Given the description of an element on the screen output the (x, y) to click on. 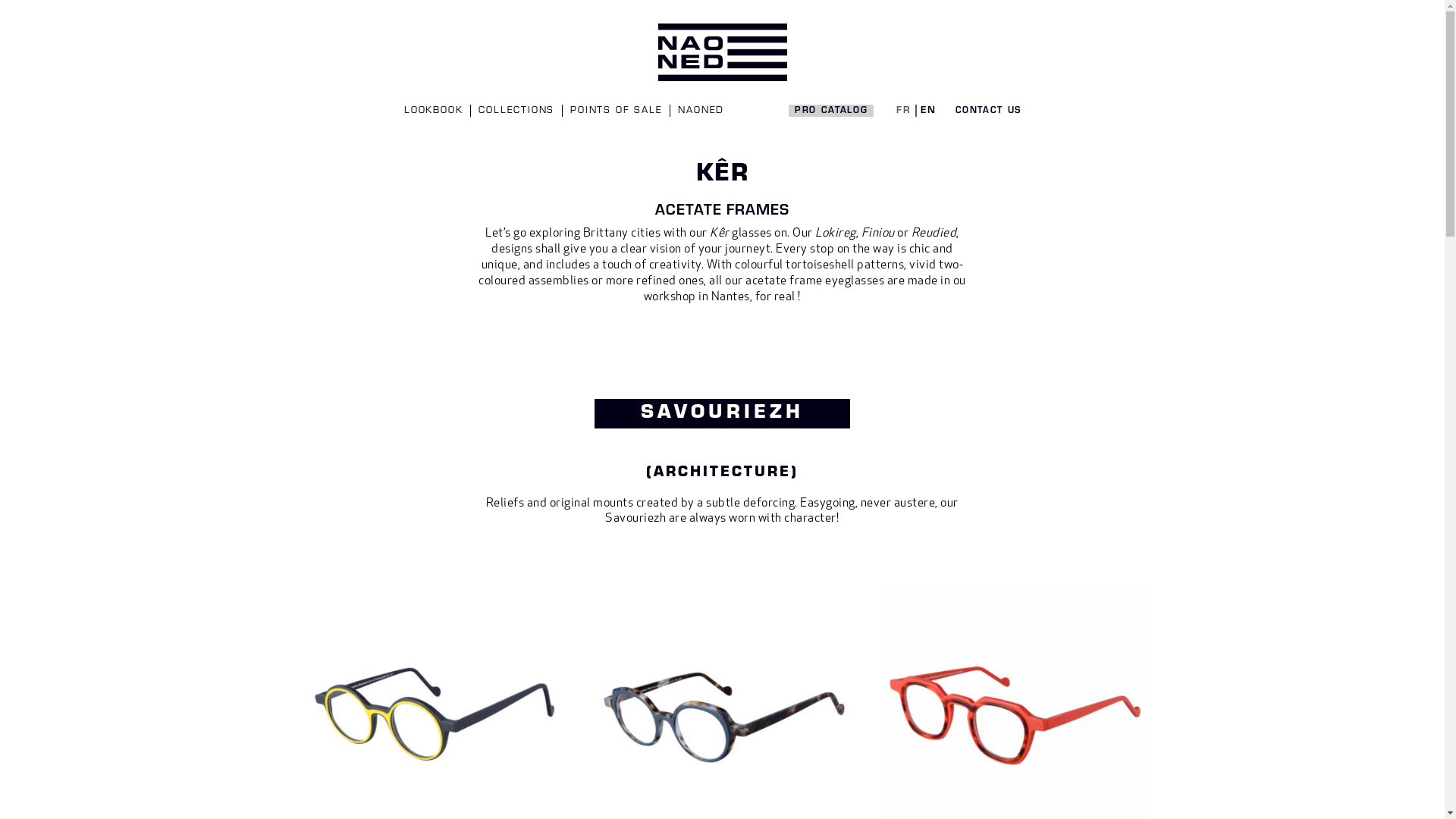
KLISON_C068 Element type: hover (436, 594)
COLLECTIONS Element type: text (516, 110)
CONTACT US Element type: text (988, 110)
NAONED Element type: text (700, 110)
FR Element type: text (903, 110)
LOOKBOOK Element type: text (433, 110)
EN Element type: text (928, 110)
SULIEG_C073 Element type: hover (726, 594)
PRO CATALOG Element type: text (830, 110)
POINTS OF SALE Element type: text (616, 110)
REUDIED_C064 Element type: hover (1015, 594)
